Given the description of an element on the screen output the (x, y) to click on. 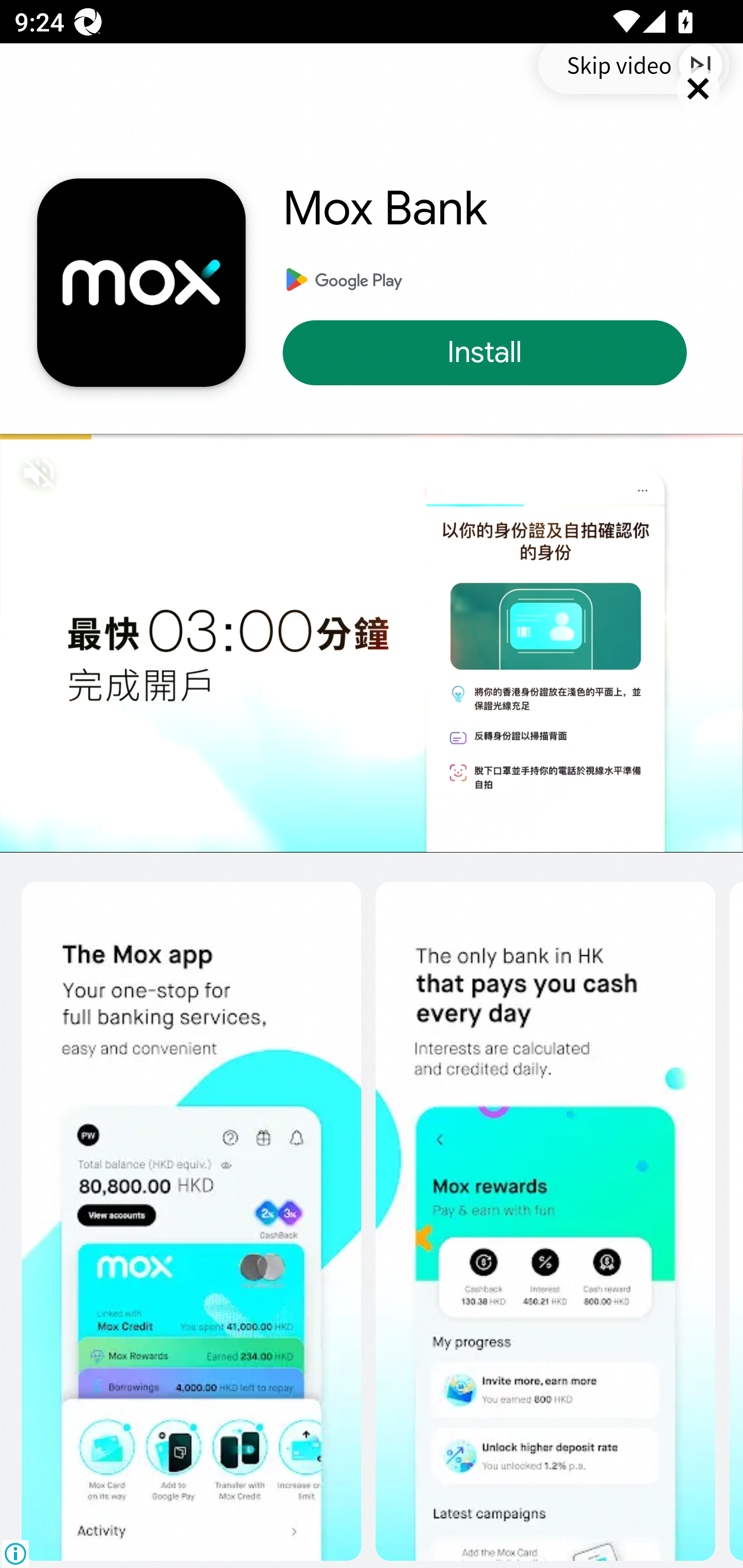
Install (494, 352)
